Given the description of an element on the screen output the (x, y) to click on. 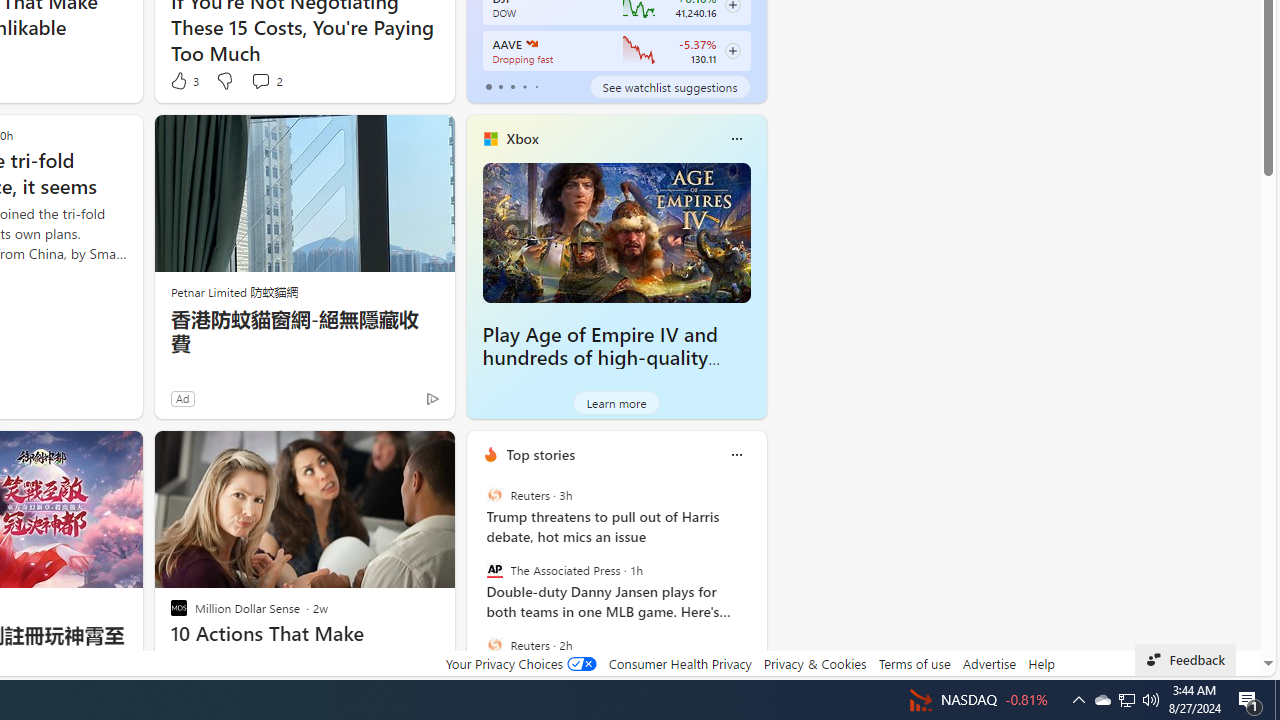
Consumer Health Privacy (680, 663)
View comments 2 Comment (260, 80)
The Associated Press (494, 570)
Class: icon-img (736, 454)
Your Privacy Choices (520, 663)
Hide this story (393, 454)
View comments 2 Comment (265, 80)
Terms of use (914, 663)
Top stories (540, 454)
See watchlist suggestions (669, 86)
3 Like (183, 80)
Reuters (494, 644)
